Given the description of an element on the screen output the (x, y) to click on. 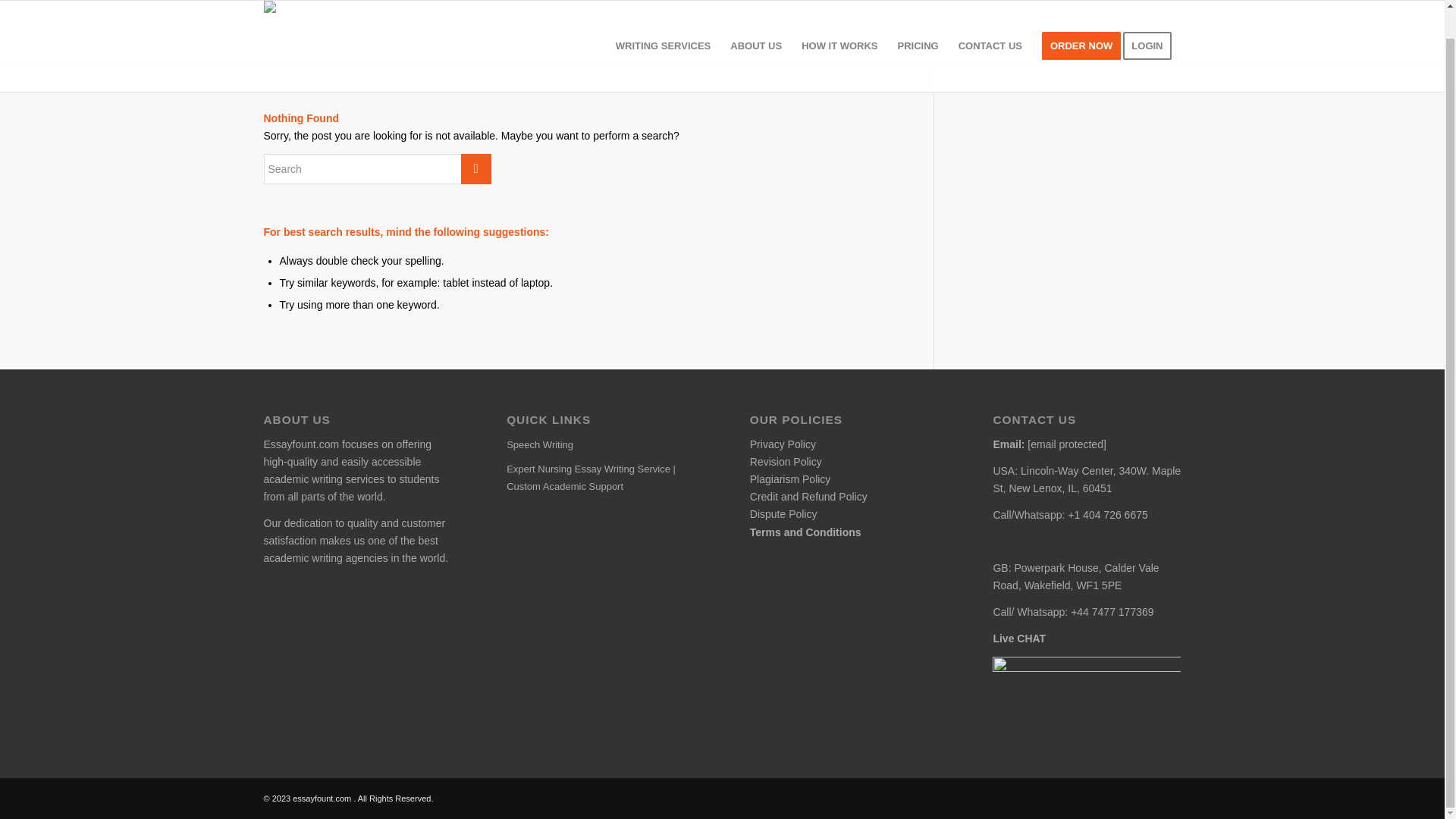
Credit and Refund Policy (808, 496)
Live CHAT (1018, 638)
WRITING SERVICES (662, 31)
Privacy Policy (782, 444)
PRICING (918, 31)
Revision Policy (785, 461)
Speech Writing (600, 445)
ORDER NOW (1081, 31)
ABOUT US (756, 31)
HOW IT WORKS (839, 31)
